Given the description of an element on the screen output the (x, y) to click on. 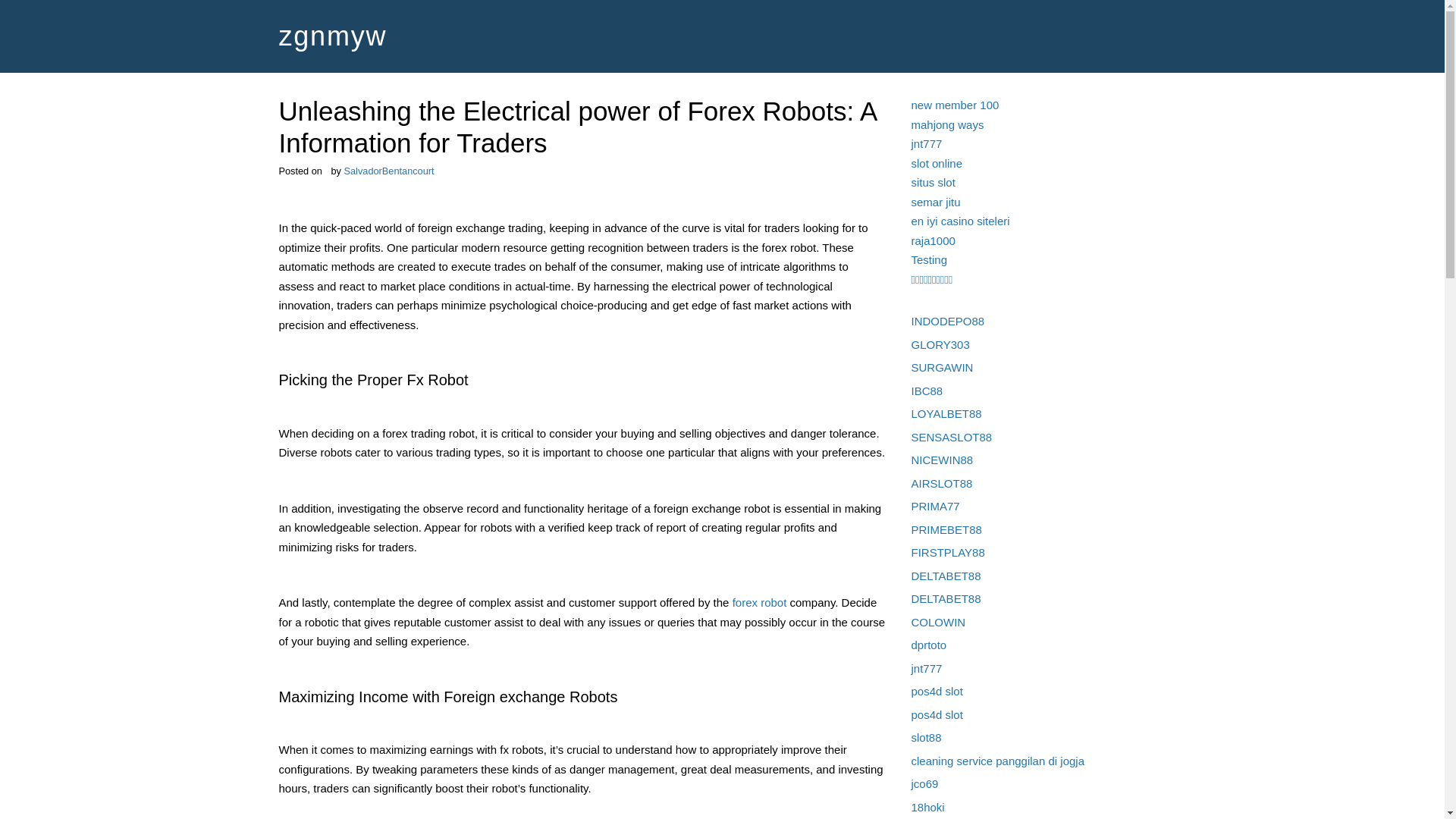
forex robot (759, 602)
PRIMA77 (935, 505)
jnt777 (926, 143)
DELTABET88 (946, 598)
new member 100 (954, 104)
en iyi casino siteleri (960, 220)
IBC88 (927, 390)
Testing (929, 259)
DELTABET88 (946, 574)
situs slot (933, 182)
FIRSTPLAY88 (948, 552)
dprtoto (929, 644)
LOYALBET88 (946, 413)
zgnmyw (333, 35)
AIRSLOT88 (941, 481)
